Given the description of an element on the screen output the (x, y) to click on. 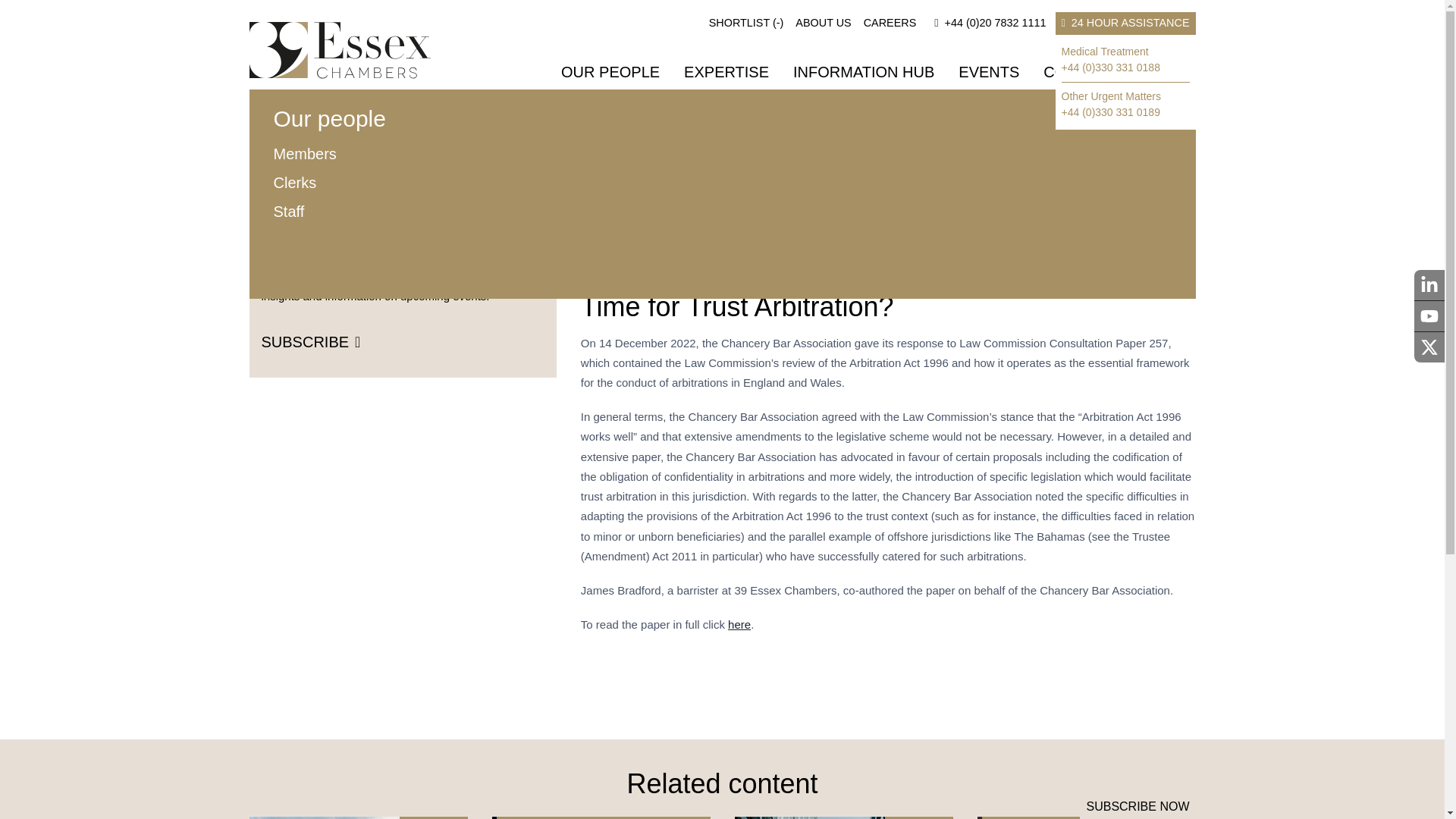
Chancery Bar Association Paper (739, 624)
